Given the description of an element on the screen output the (x, y) to click on. 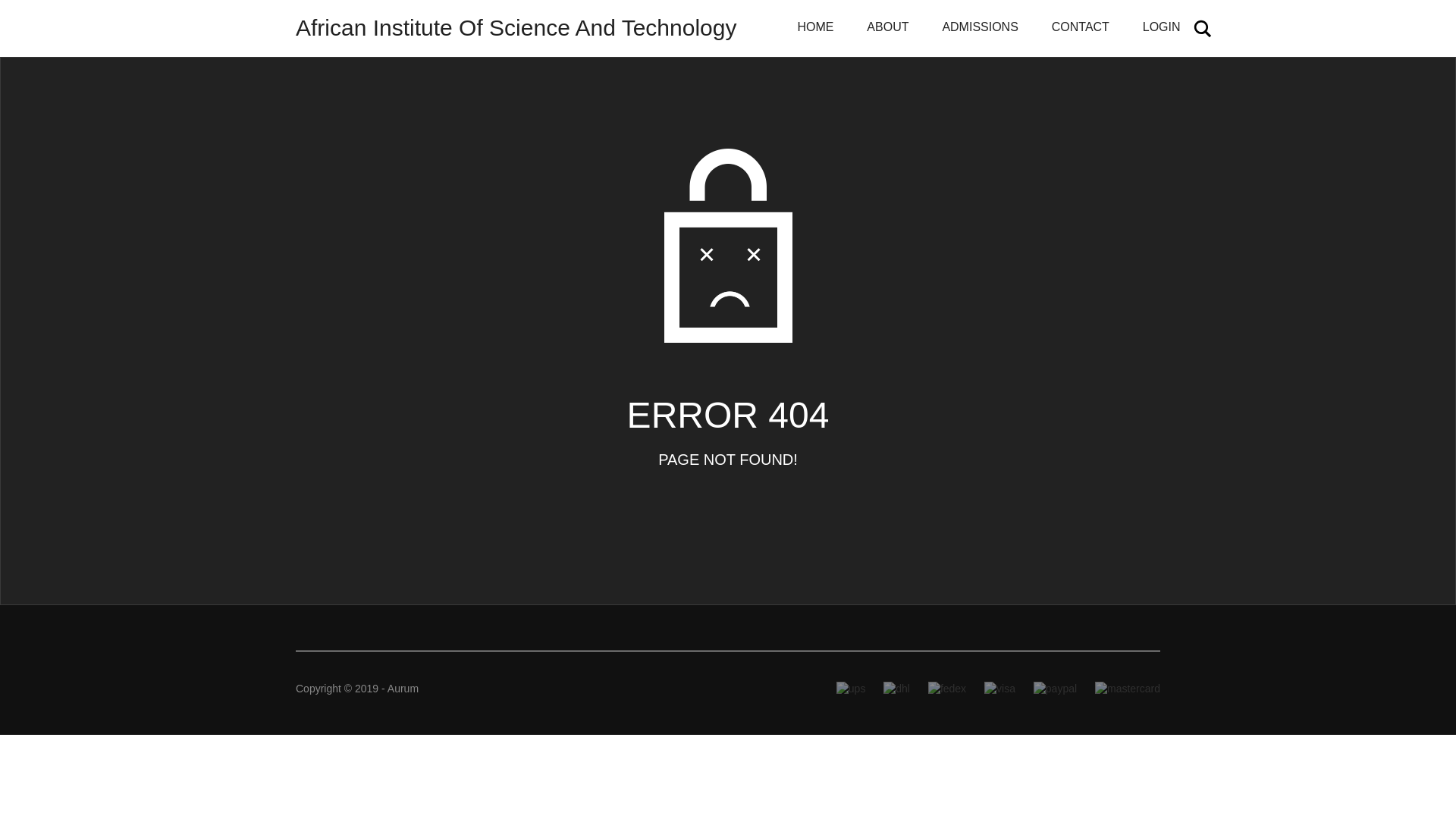
ABOUT (887, 28)
ADMISSIONS (979, 28)
Search (1202, 28)
LOGIN (1160, 28)
HOME (814, 28)
CONTACT (1080, 28)
African Institute Of Science And Technology (515, 27)
